Given the description of an element on the screen output the (x, y) to click on. 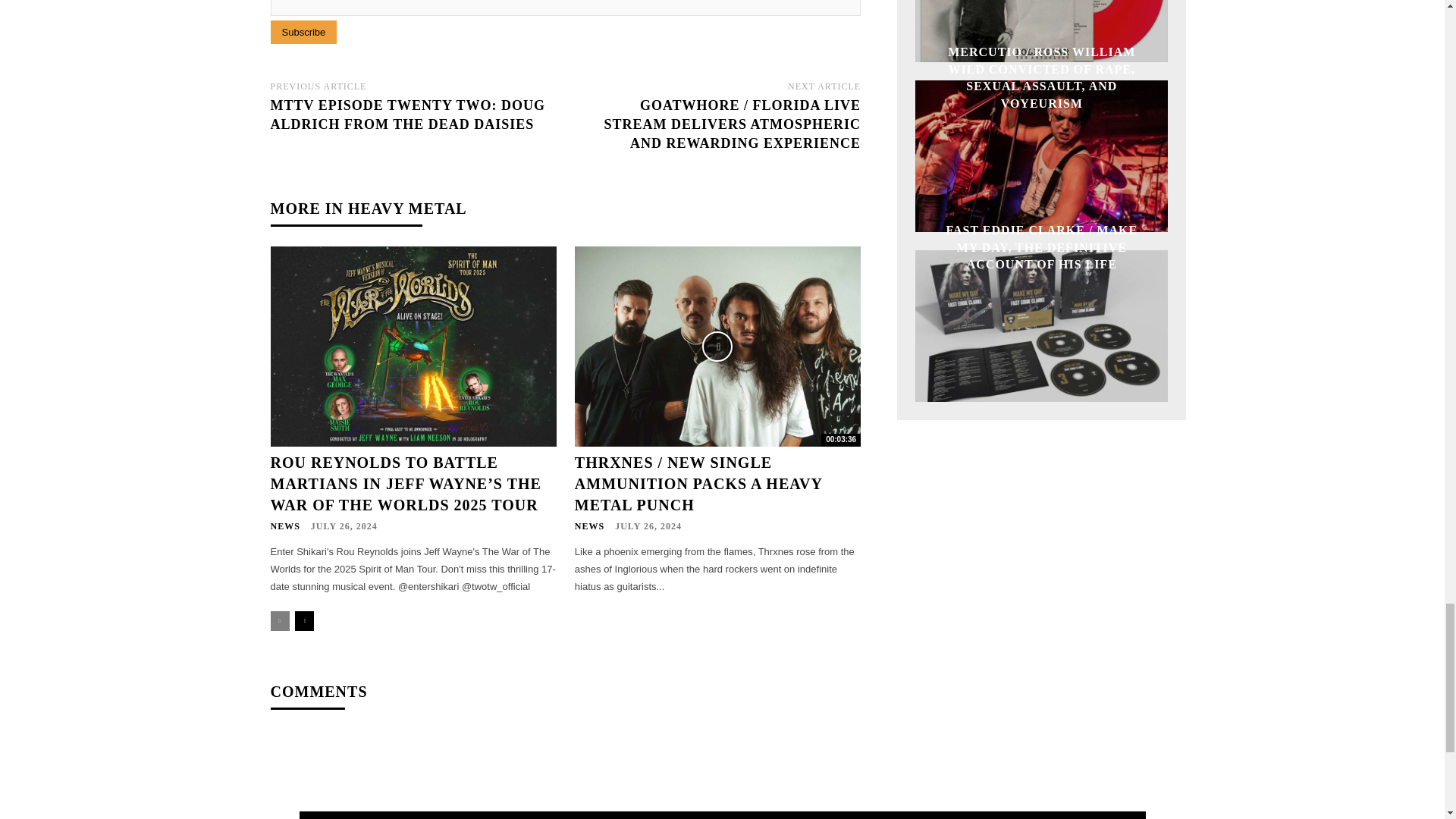
Subscribe (302, 32)
